Given the description of an element on the screen output the (x, y) to click on. 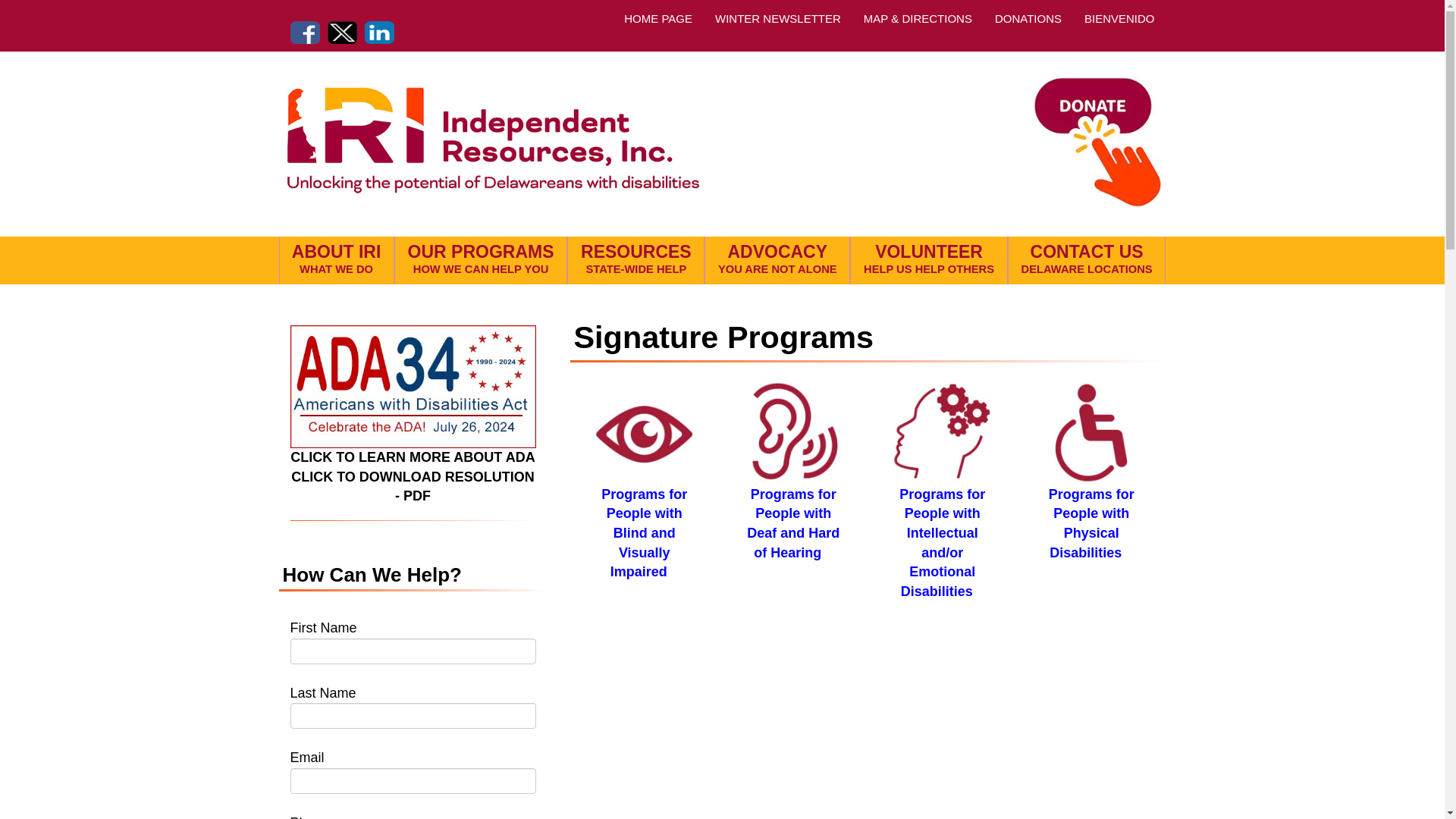
DONATIONS (1028, 19)
HOME PAGE (657, 19)
WINTER NEWSLETTER (336, 260)
BIENVENIDO (777, 19)
Independent Resources, Inc. Delaware (1119, 19)
